Given the description of an element on the screen output the (x, y) to click on. 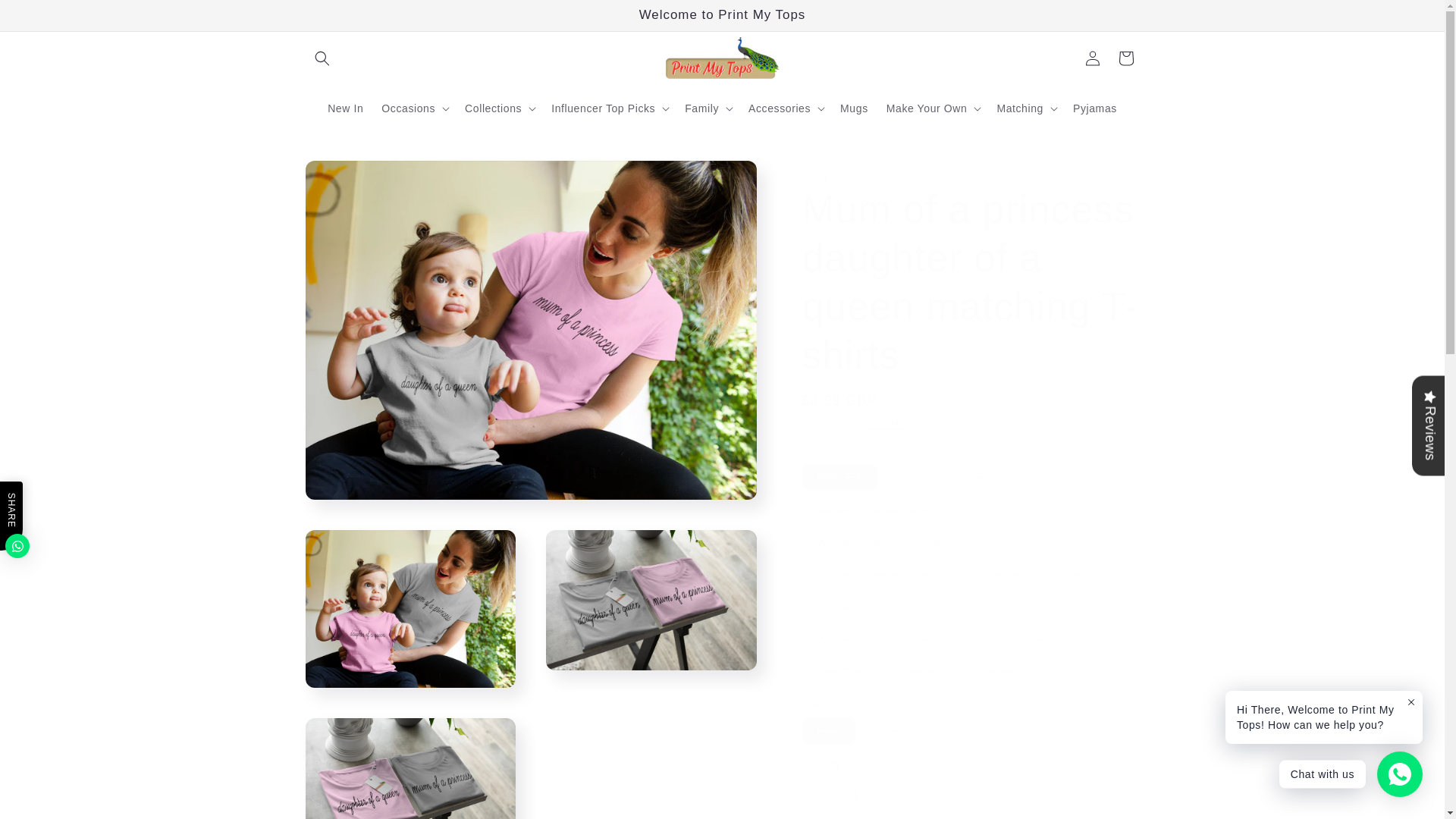
1 (856, 793)
Open media 2 in modal (409, 608)
Open media 4 in modal (409, 768)
Open media 3 in modal (651, 608)
Skip to content (45, 17)
